Given the description of an element on the screen output the (x, y) to click on. 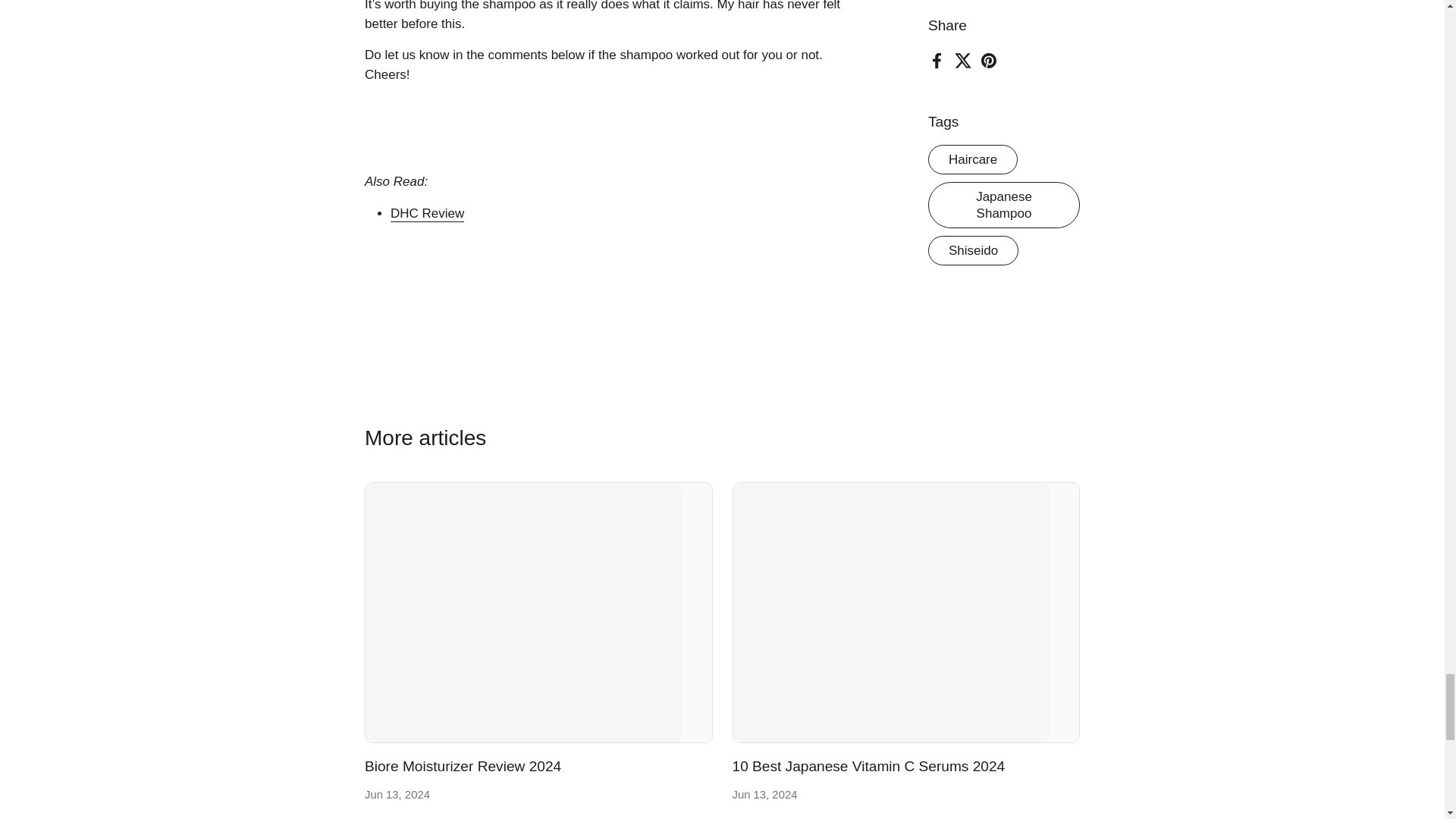
Biore Moisturizer Review 2024 (462, 766)
10 Best Japanese Vitamin C Serums 2024 (869, 766)
Biore Moisturizer Review 2024 (539, 612)
10 Best Japanese Vitamin C Serums 2024 (906, 612)
